Given the description of an element on the screen output the (x, y) to click on. 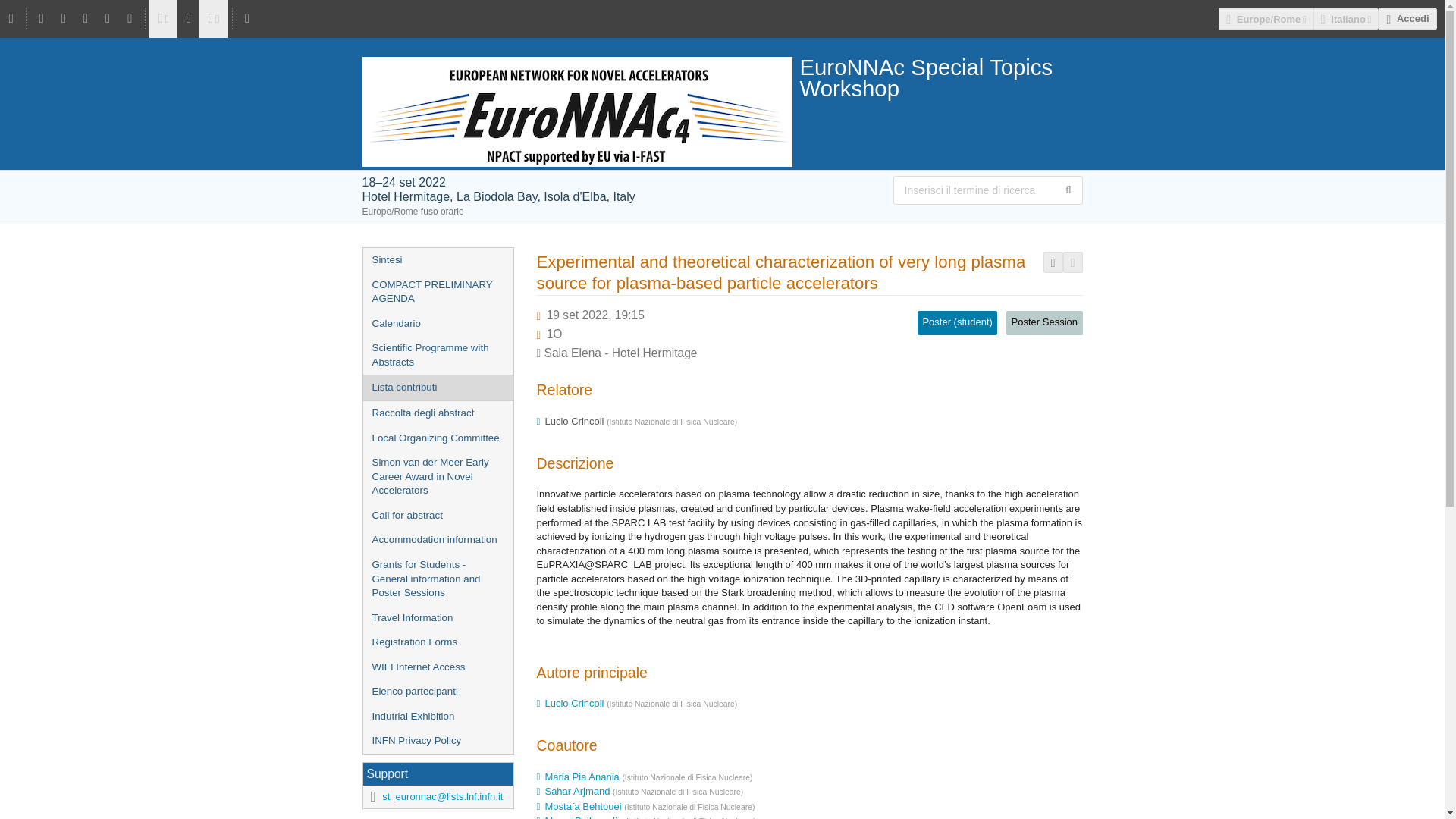
Lista contributi (437, 387)
COMPACT PRELIMINARY AGENDA (437, 292)
Esporta (1072, 262)
Esporta in PDF (1052, 262)
Italiano (1345, 19)
Scientific Programme with Abstracts (437, 354)
Accedi (1406, 19)
EuroNNAc Special Topics Workshop (722, 77)
Sintesi (437, 260)
Durata (554, 333)
